Given the description of an element on the screen output the (x, y) to click on. 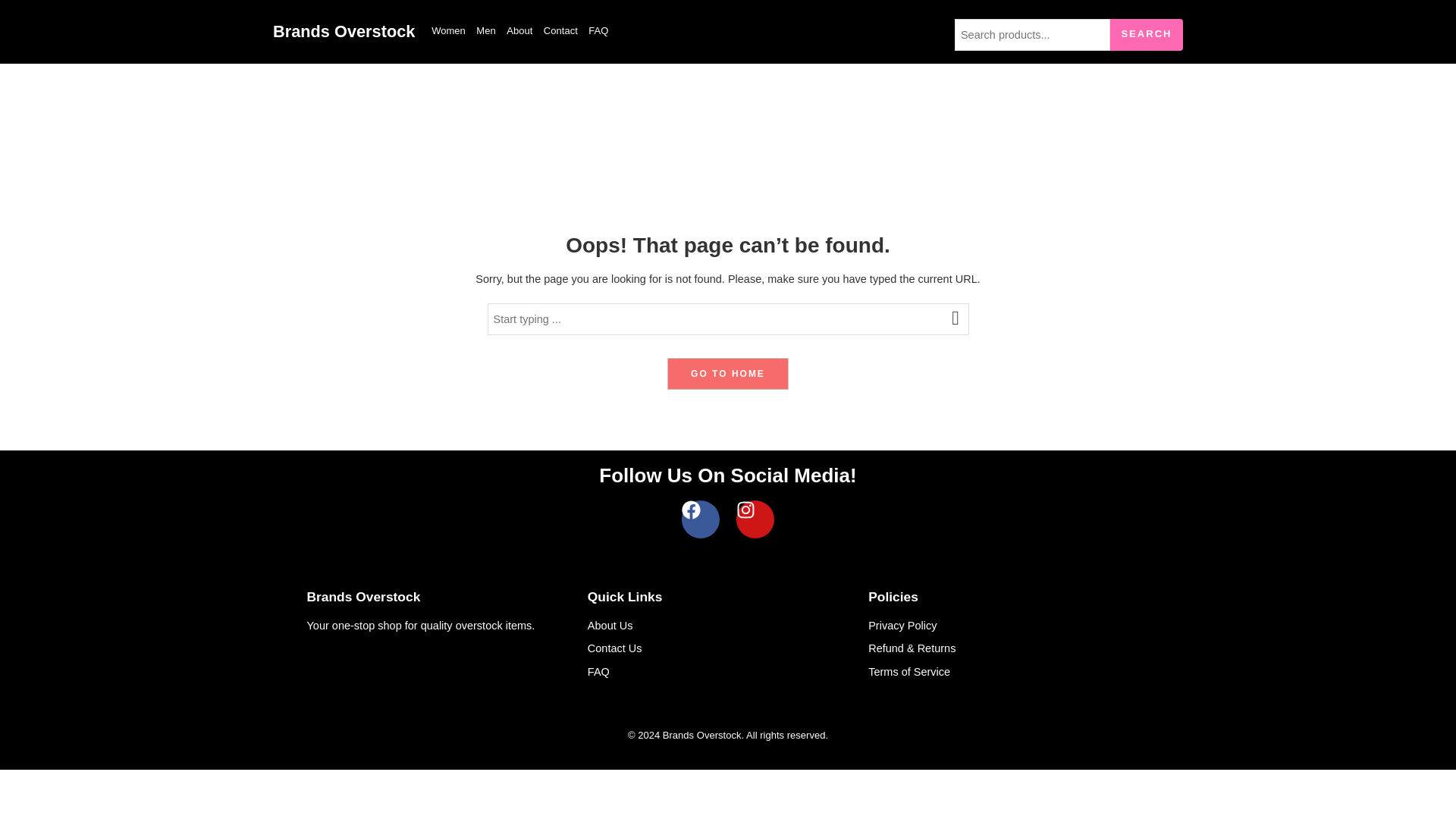
Terms of Service (908, 671)
Contact Us (615, 648)
Brands Overstock (343, 31)
About (519, 31)
GO TO HOME (727, 373)
About Us (610, 625)
Privacy Policy (901, 625)
FAQ (599, 671)
Contact (560, 31)
SEARCH (1145, 33)
